Given the description of an element on the screen output the (x, y) to click on. 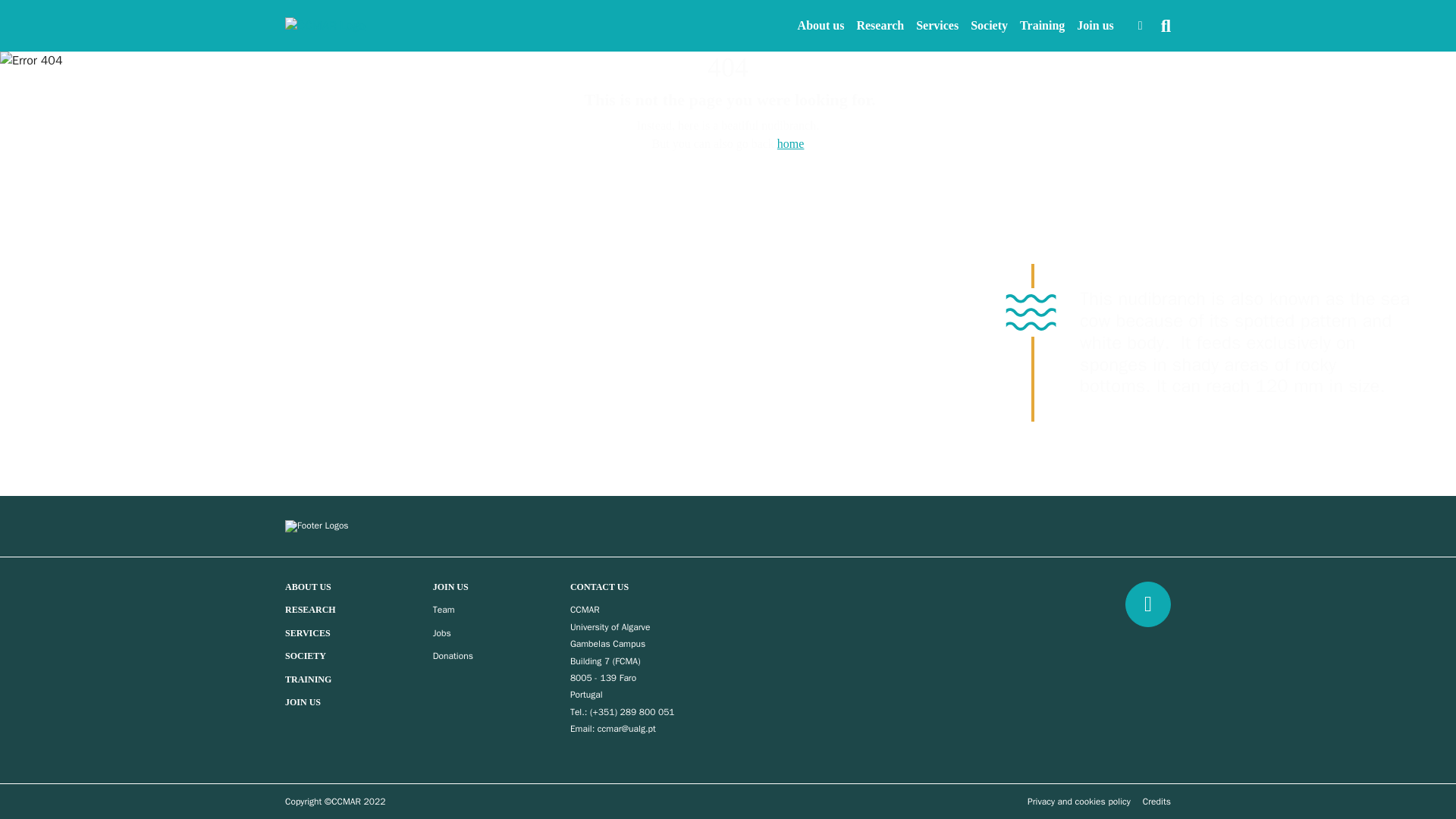
Home (791, 143)
User (1140, 25)
